Given the description of an element on the screen output the (x, y) to click on. 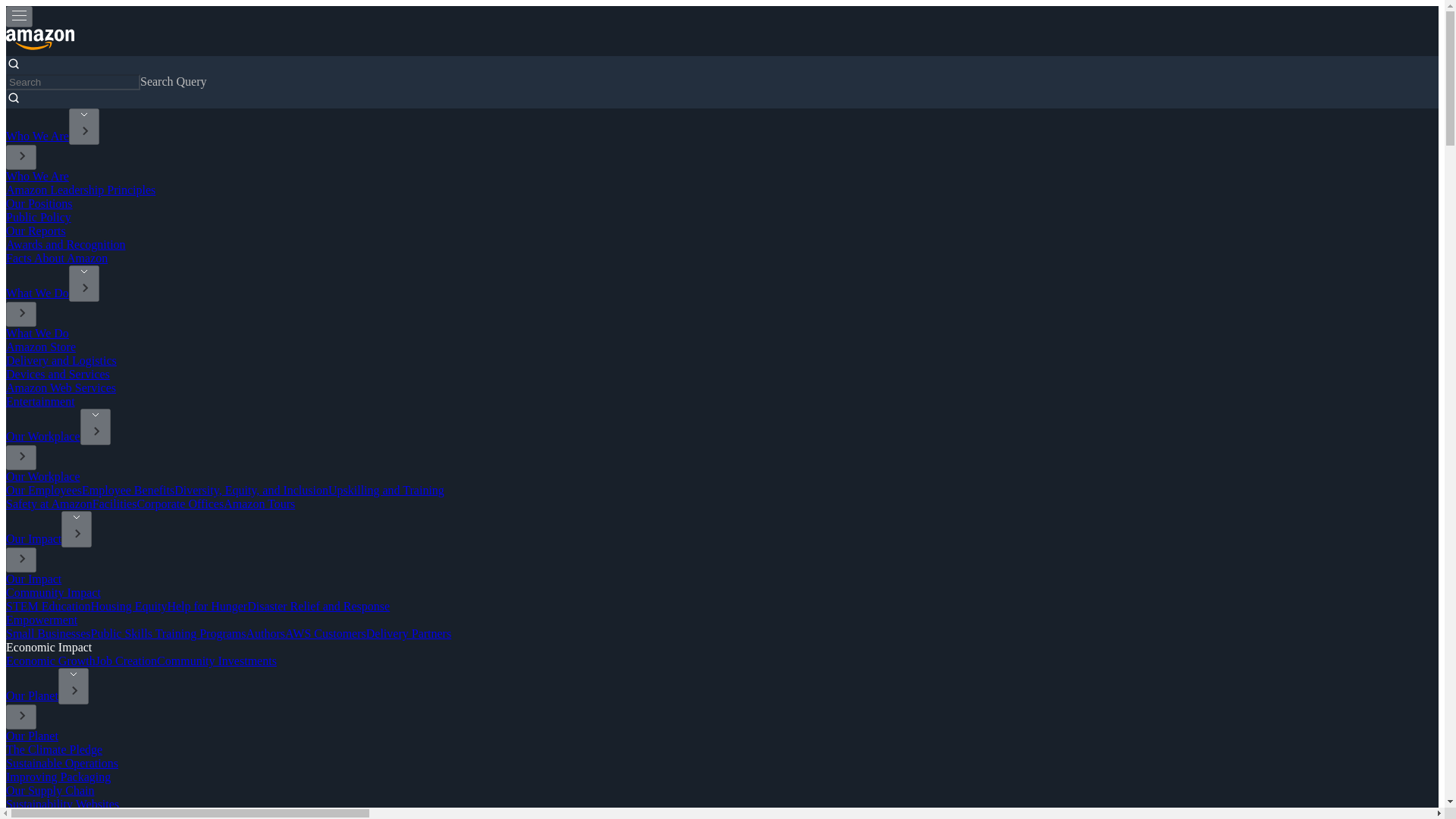
Our Workplace (42, 476)
Our Workplace (42, 436)
Amazon Store (40, 346)
Amazon Leadership Principles (80, 189)
Awards and Recognition (65, 244)
Our Positions (38, 203)
Community Impact (52, 592)
Who We Are (36, 135)
Public Policy (38, 216)
Employee Benefits (127, 490)
Who We Are (36, 175)
Diversity, Equity, and Inclusion (251, 490)
Devices and Services (57, 373)
Corporate Offices (180, 503)
Facts About Amazon (56, 257)
